Given the description of an element on the screen output the (x, y) to click on. 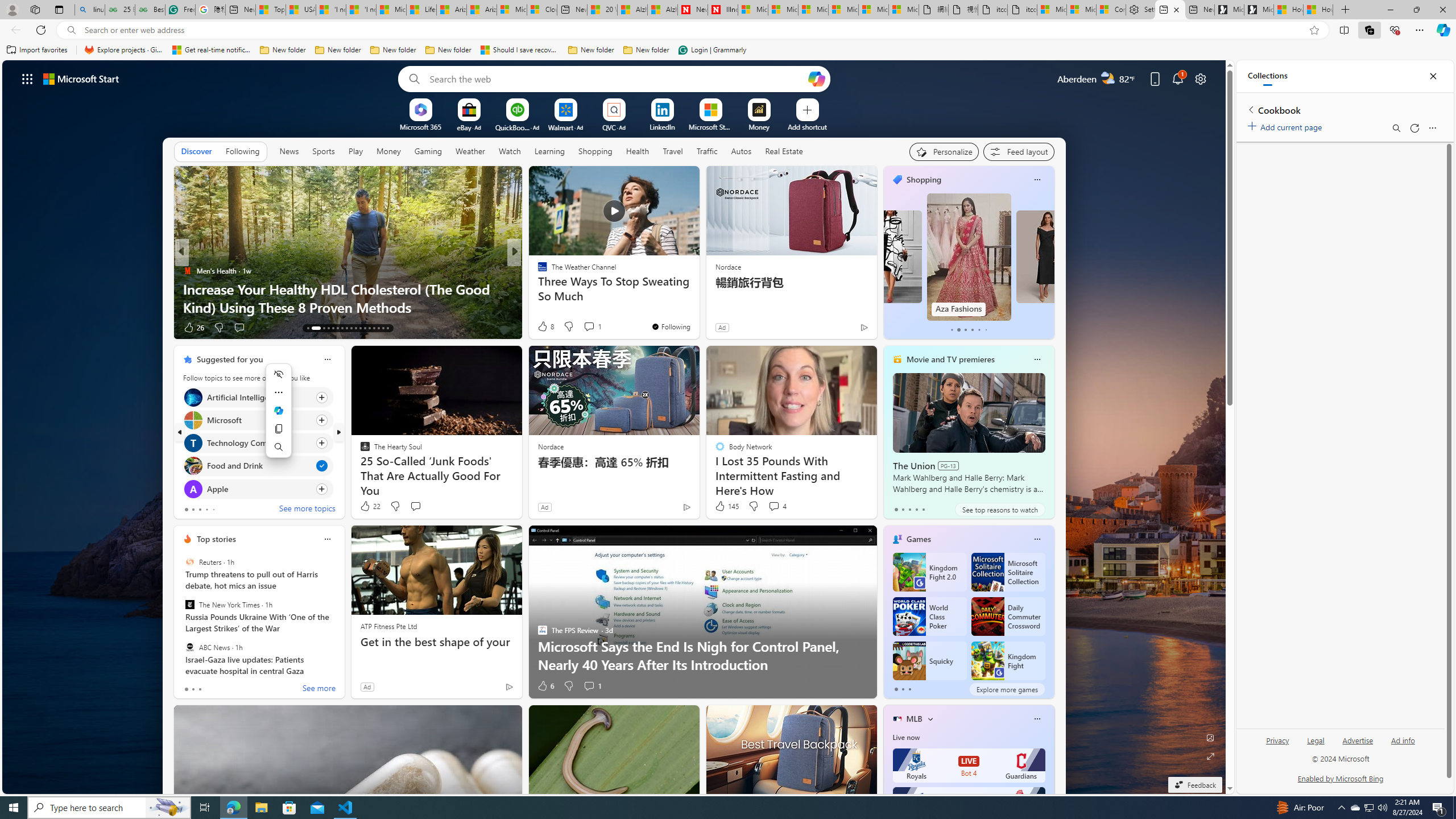
61 Like (543, 327)
22 Like (368, 505)
Feed settings (1018, 151)
AutomationID: tab-18 (337, 328)
AutomationID: tab-20 (346, 328)
How to reinstall Windows and give your PC a fresh start (697, 298)
The Independent (537, 270)
tab-4 (923, 509)
6 Like (545, 685)
